Given the description of an element on the screen output the (x, y) to click on. 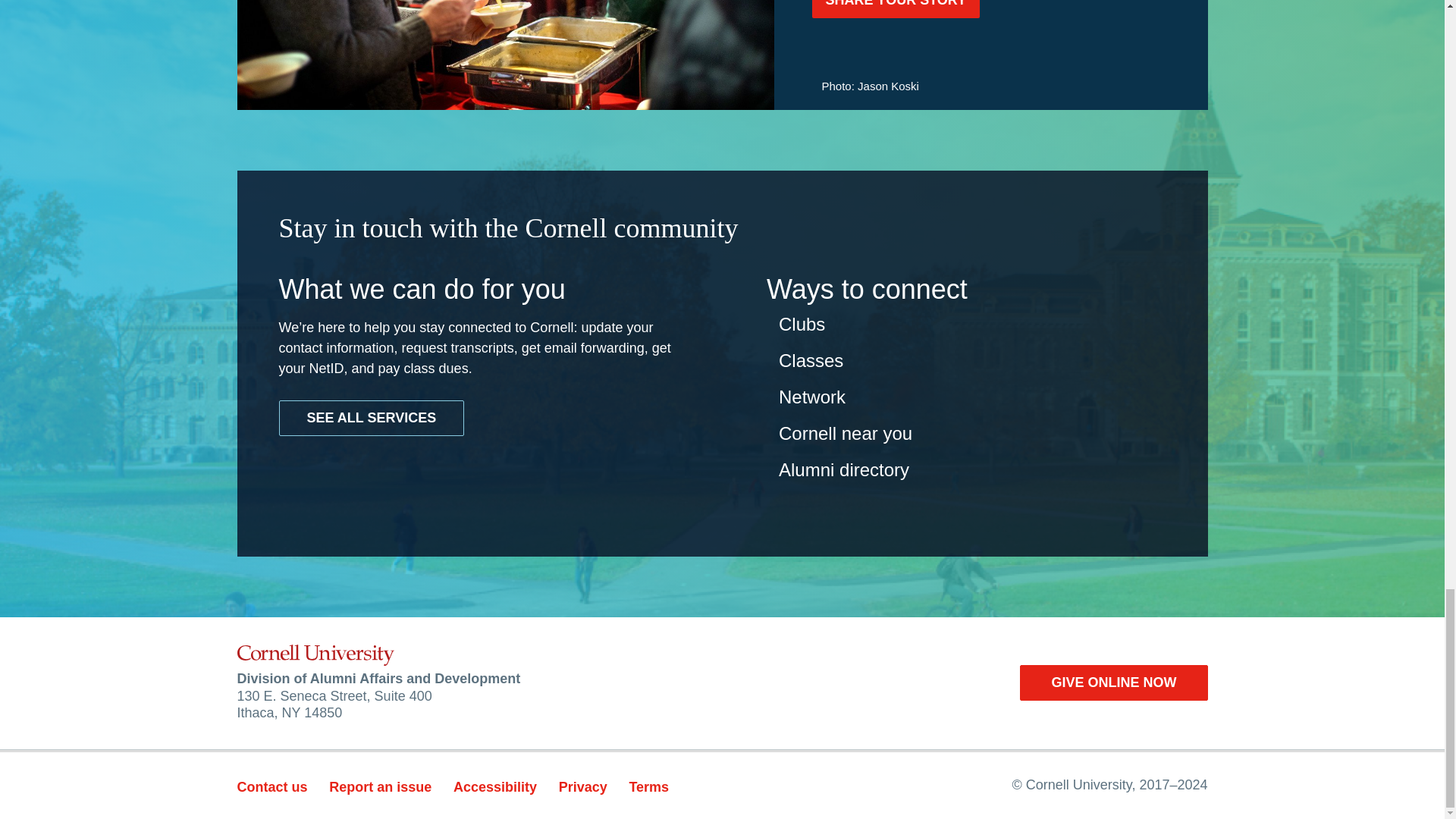
Classes (810, 360)
Network (811, 396)
SEE ALL SERVICES (371, 417)
SHARE YOUR STORY (894, 9)
Clubs (801, 323)
